Given the description of an element on the screen output the (x, y) to click on. 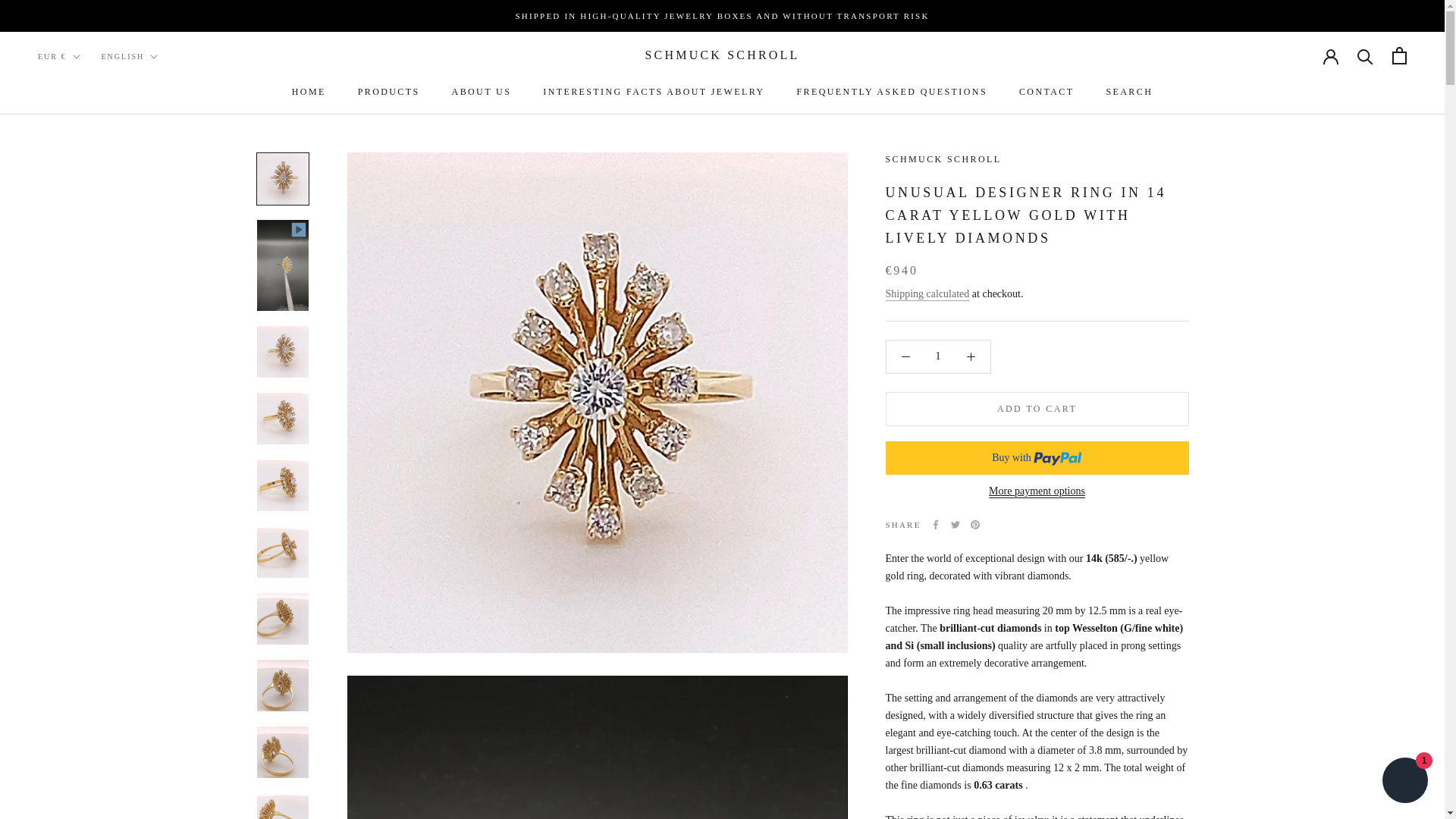
Shopify online store chat (481, 91)
1 (891, 91)
